Given the description of an element on the screen output the (x, y) to click on. 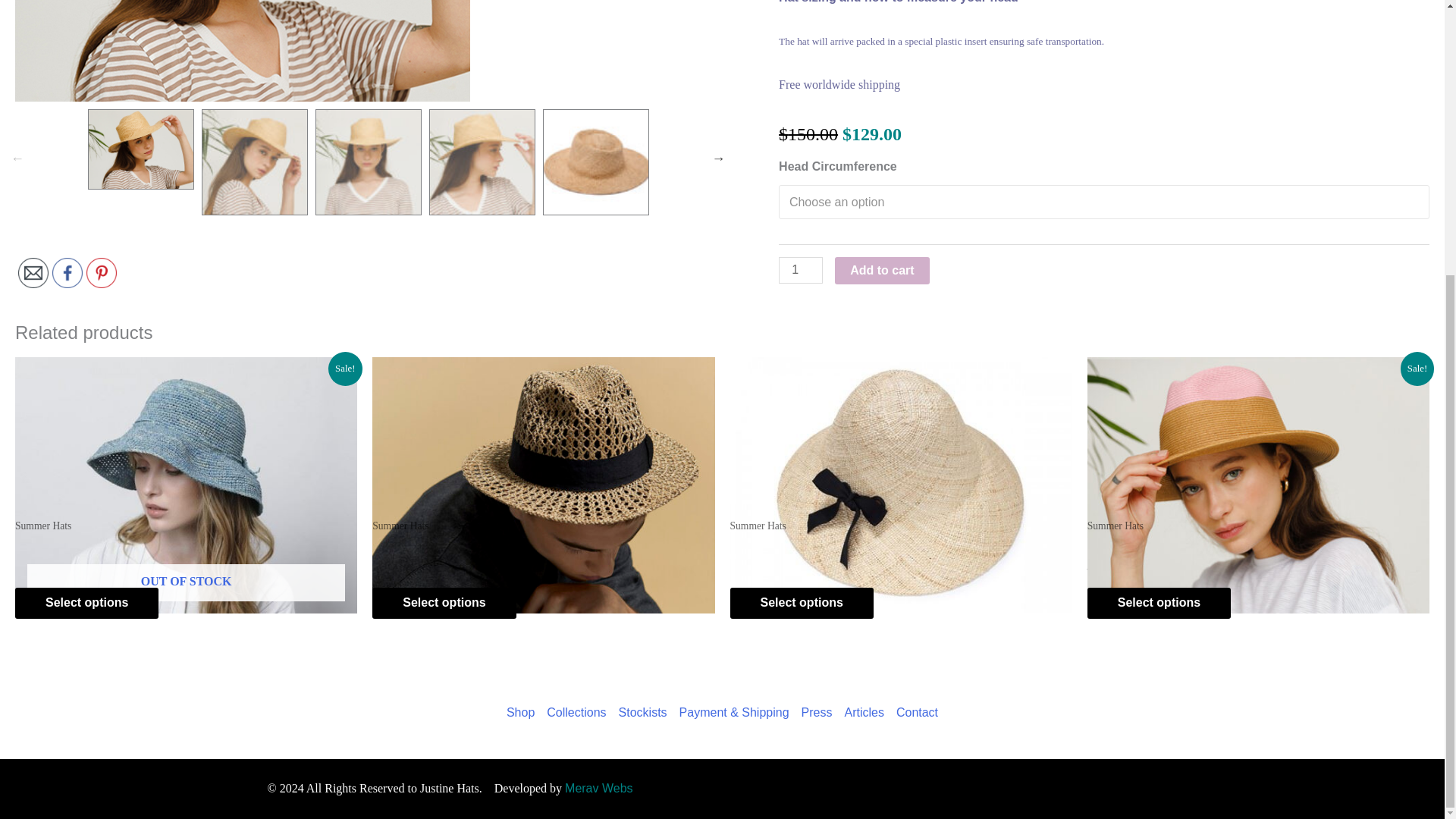
Follow by Email (32, 272)
Pinterest (100, 272)
1 (800, 270)
Facebook (67, 272)
